Given the description of an element on the screen output the (x, y) to click on. 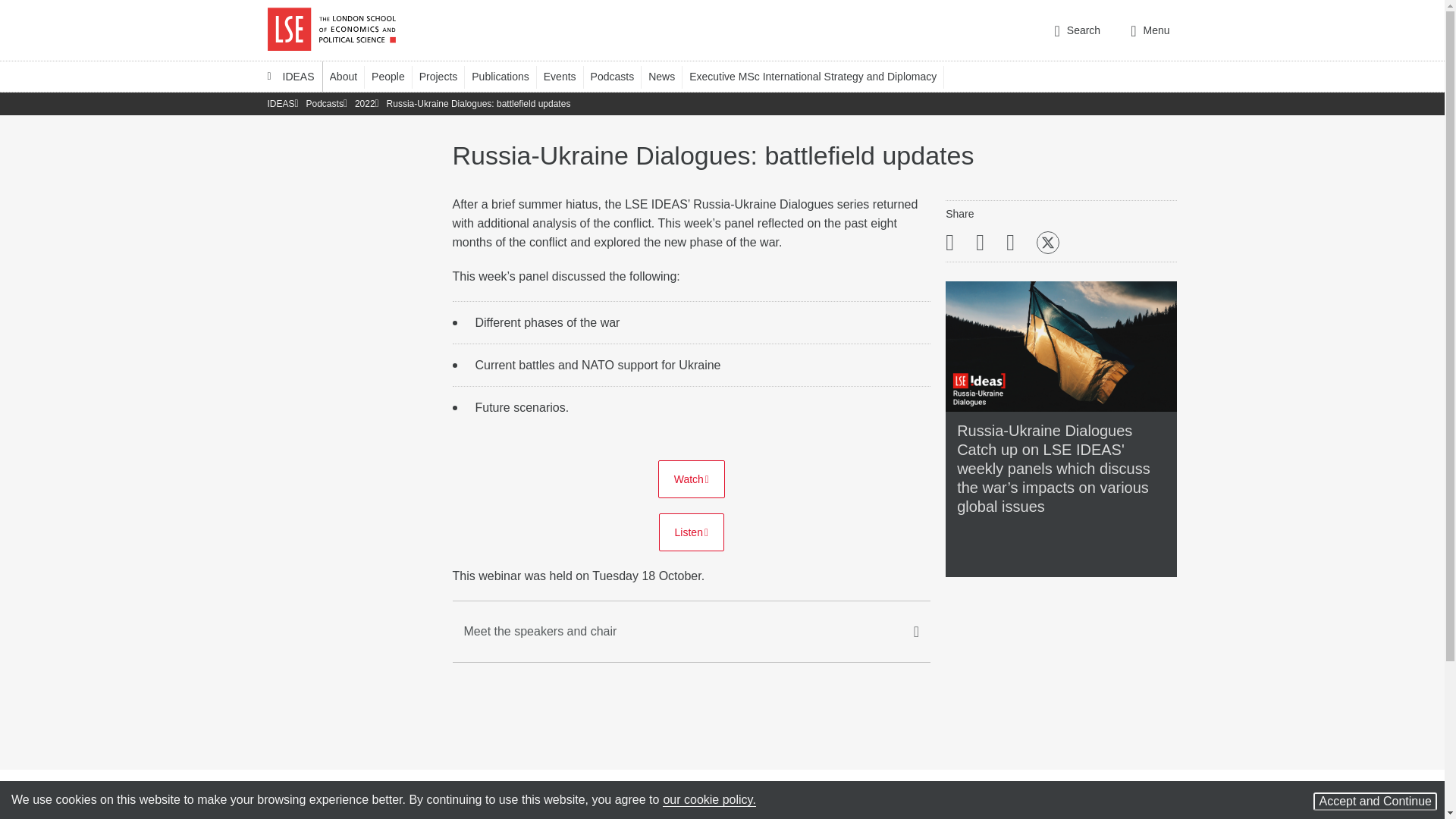
Podcasts (620, 76)
LSE IDEAS (290, 76)
News (667, 76)
People (395, 76)
IDEAS (290, 76)
Events (567, 76)
Executive MSc International Strategy and Diplomacy (819, 76)
Publications (507, 76)
our cookie policy. (708, 799)
People (395, 76)
Accept and Continue (1375, 801)
Projects (445, 76)
Publications (507, 76)
Menu (1150, 30)
News (667, 76)
